Given the description of an element on the screen output the (x, y) to click on. 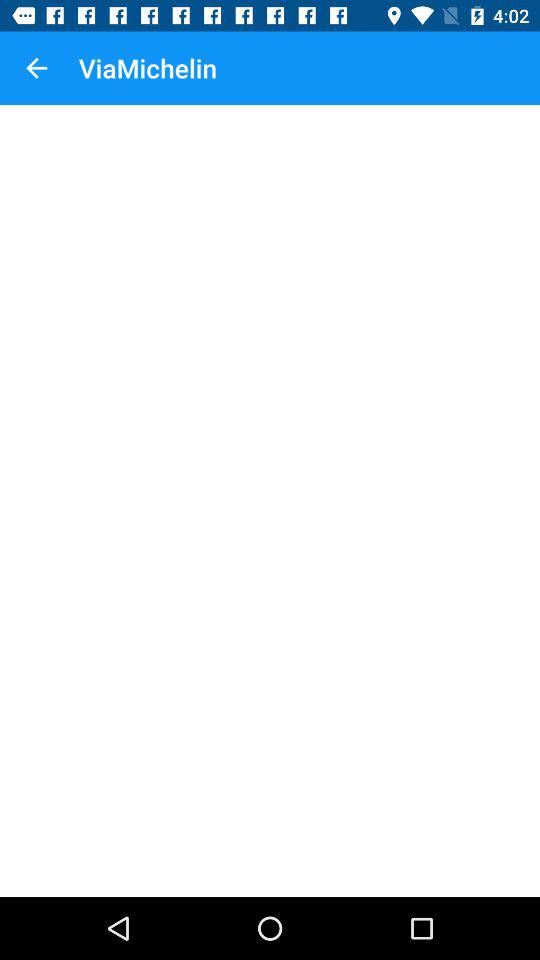
choose the icon at the center (270, 500)
